Given the description of an element on the screen output the (x, y) to click on. 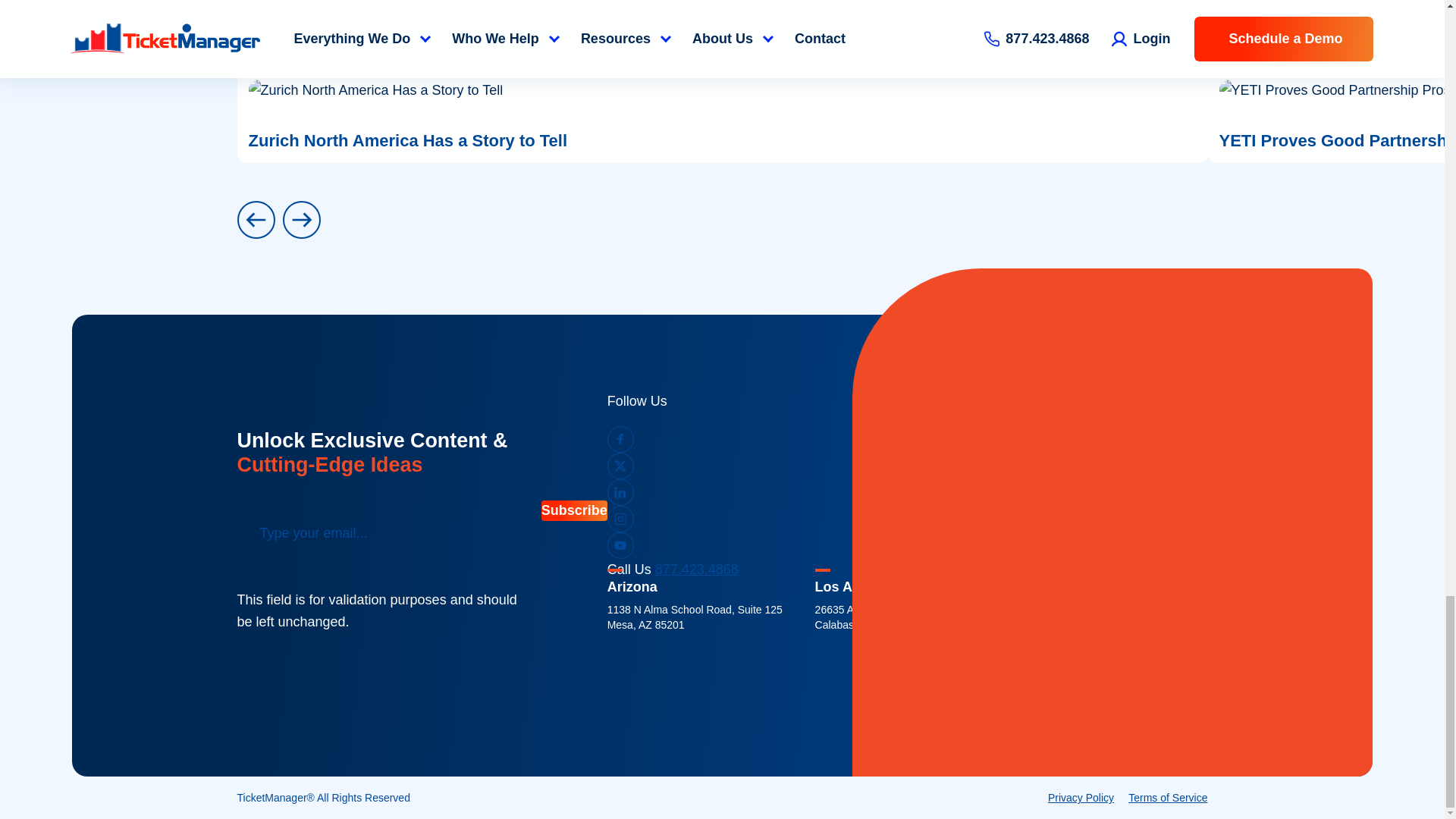
Subscribe (574, 510)
